Given the description of an element on the screen output the (x, y) to click on. 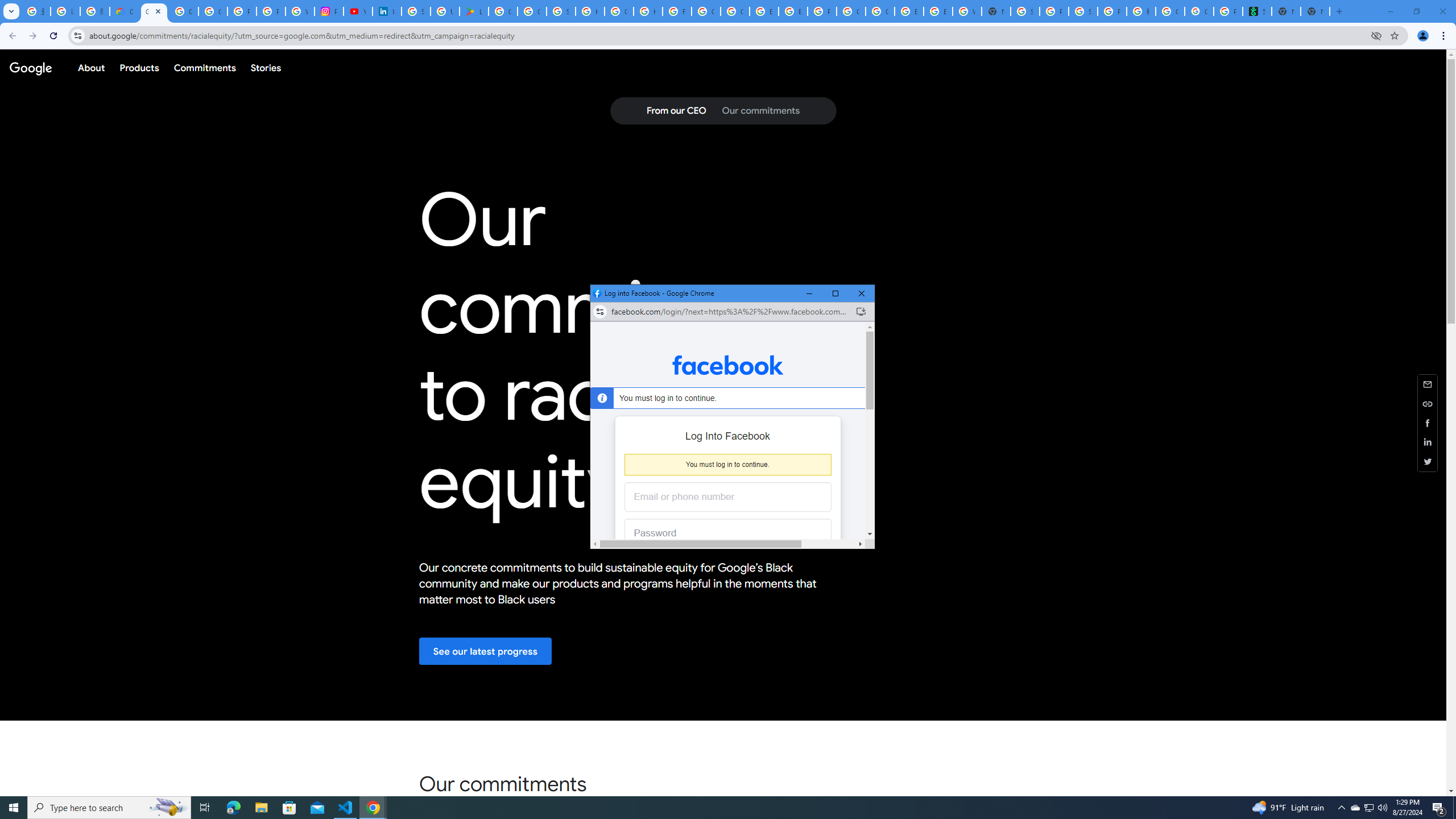
Action Center, 2 new notifications (1439, 807)
User Promoted Notification Area (1368, 807)
Products (138, 67)
Q2790: 100% (1382, 807)
Maximize (835, 293)
Running applications (1355, 807)
Type here to search (717, 807)
